Given the description of an element on the screen output the (x, y) to click on. 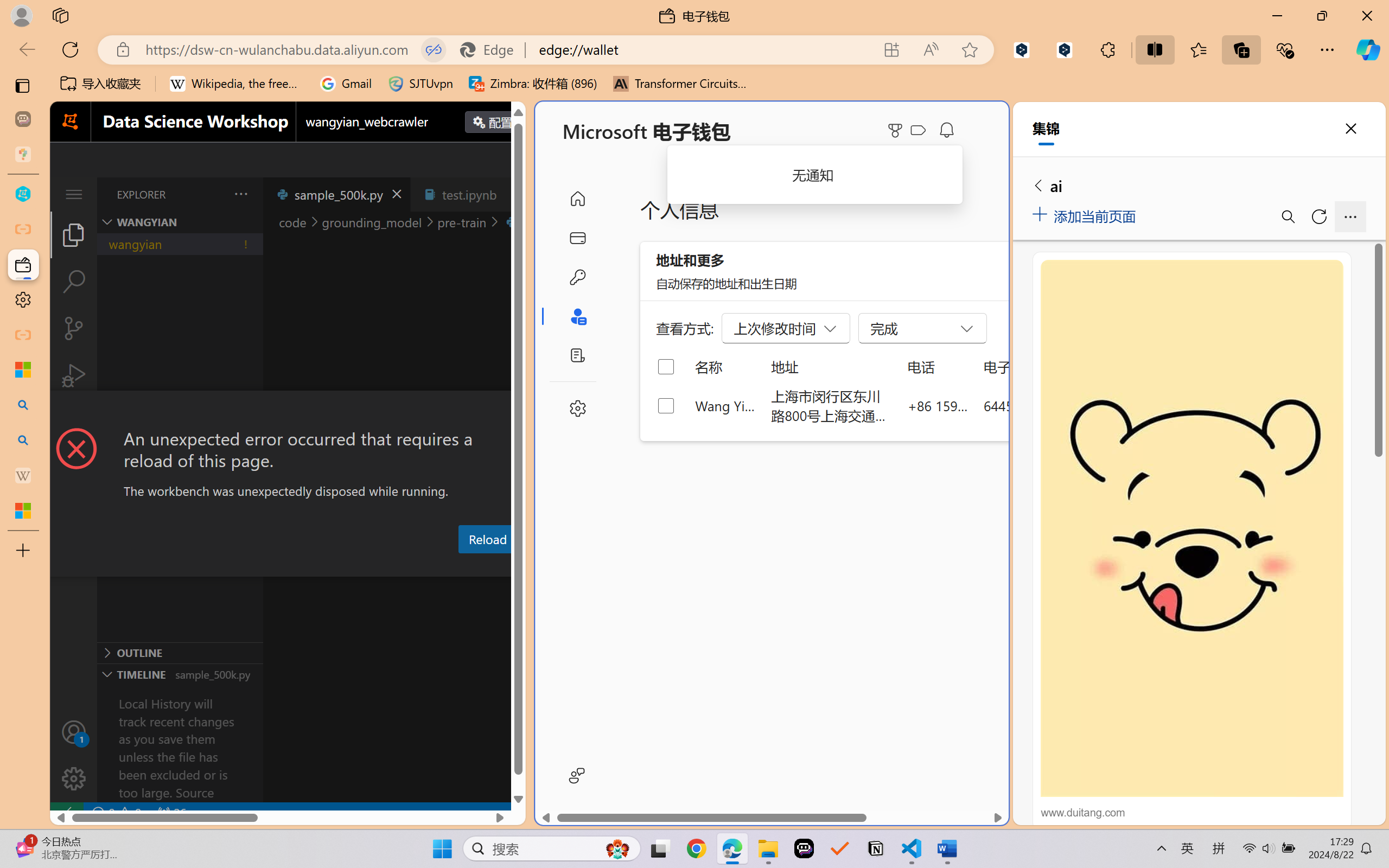
sample_500k.py (336, 194)
Problems (Ctrl+Shift+M) (308, 565)
Debug Console (Ctrl+Shift+Y) (463, 565)
